Given the description of an element on the screen output the (x, y) to click on. 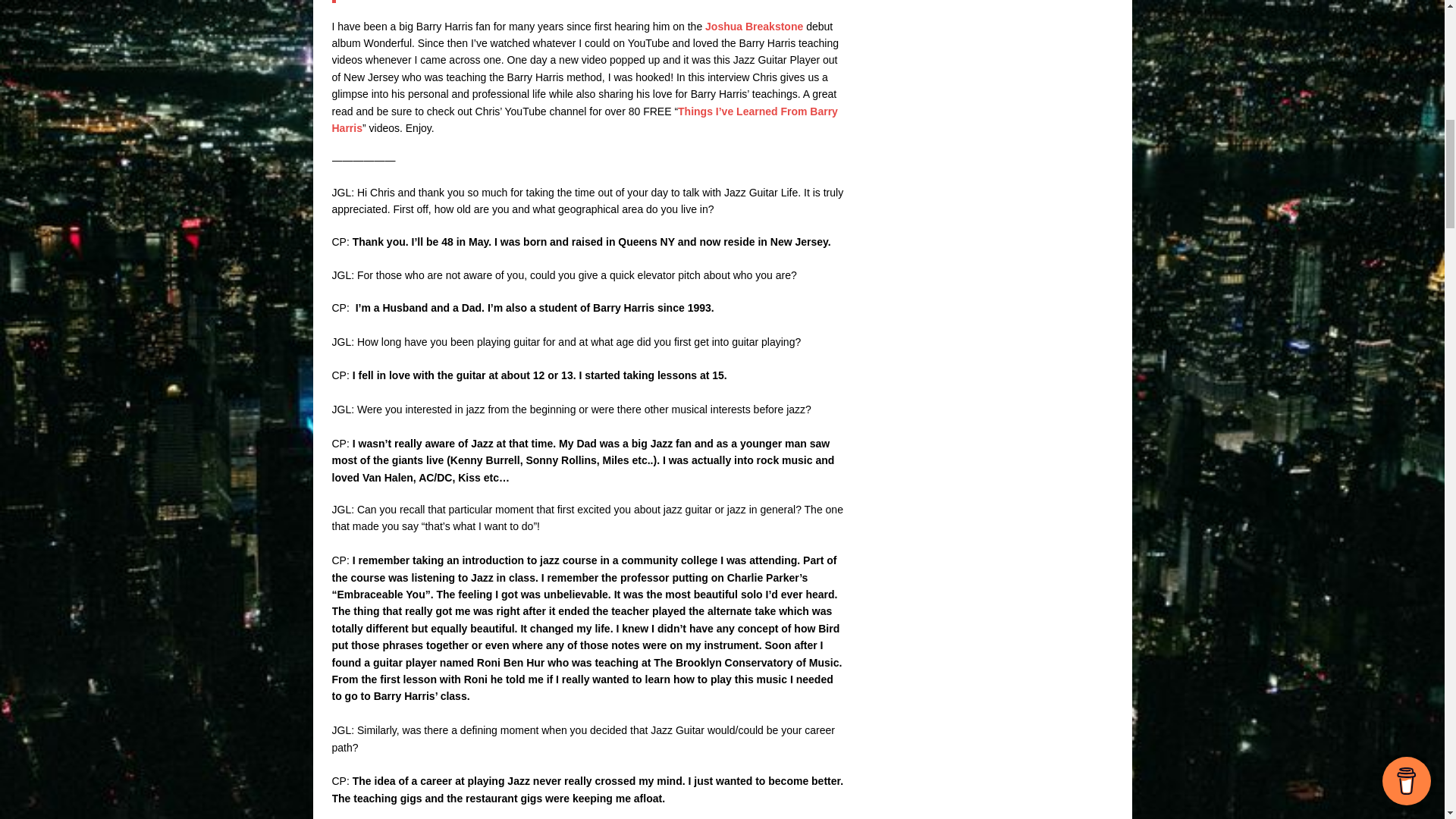
Joshua Breakstone (753, 26)
